Given the description of an element on the screen output the (x, y) to click on. 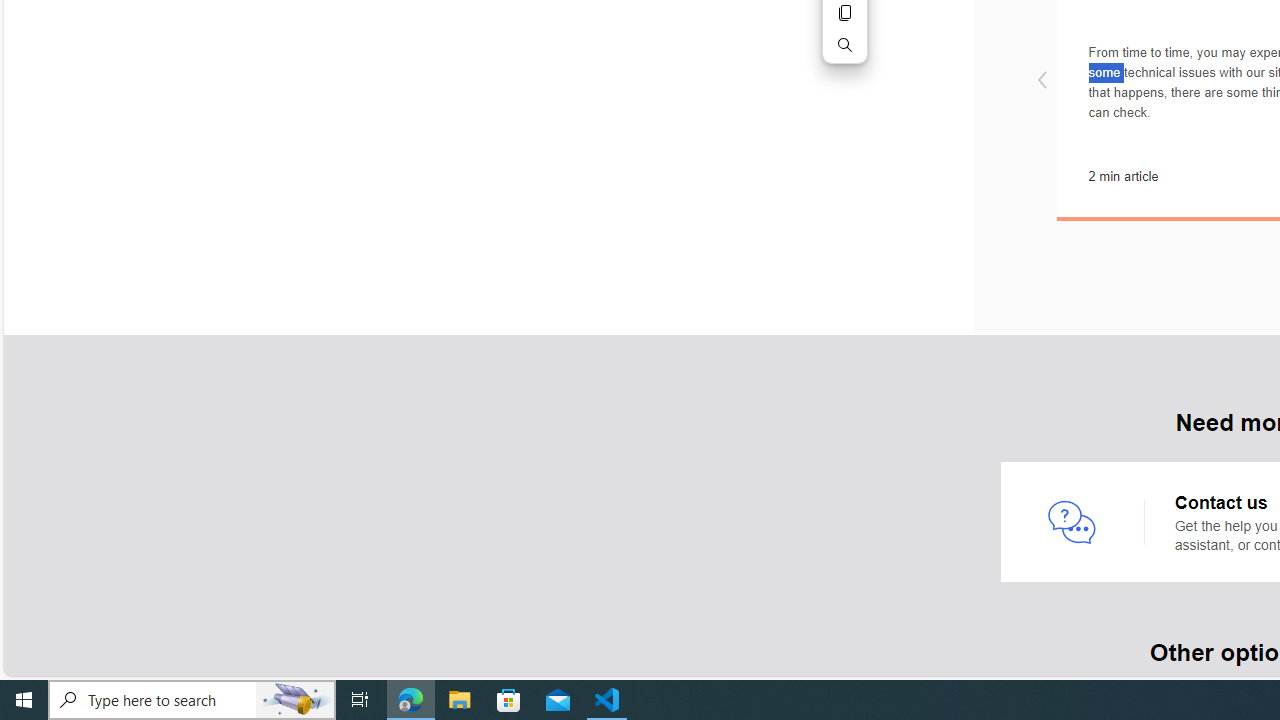
Previous slide (1041, 81)
